Given the description of an element on the screen output the (x, y) to click on. 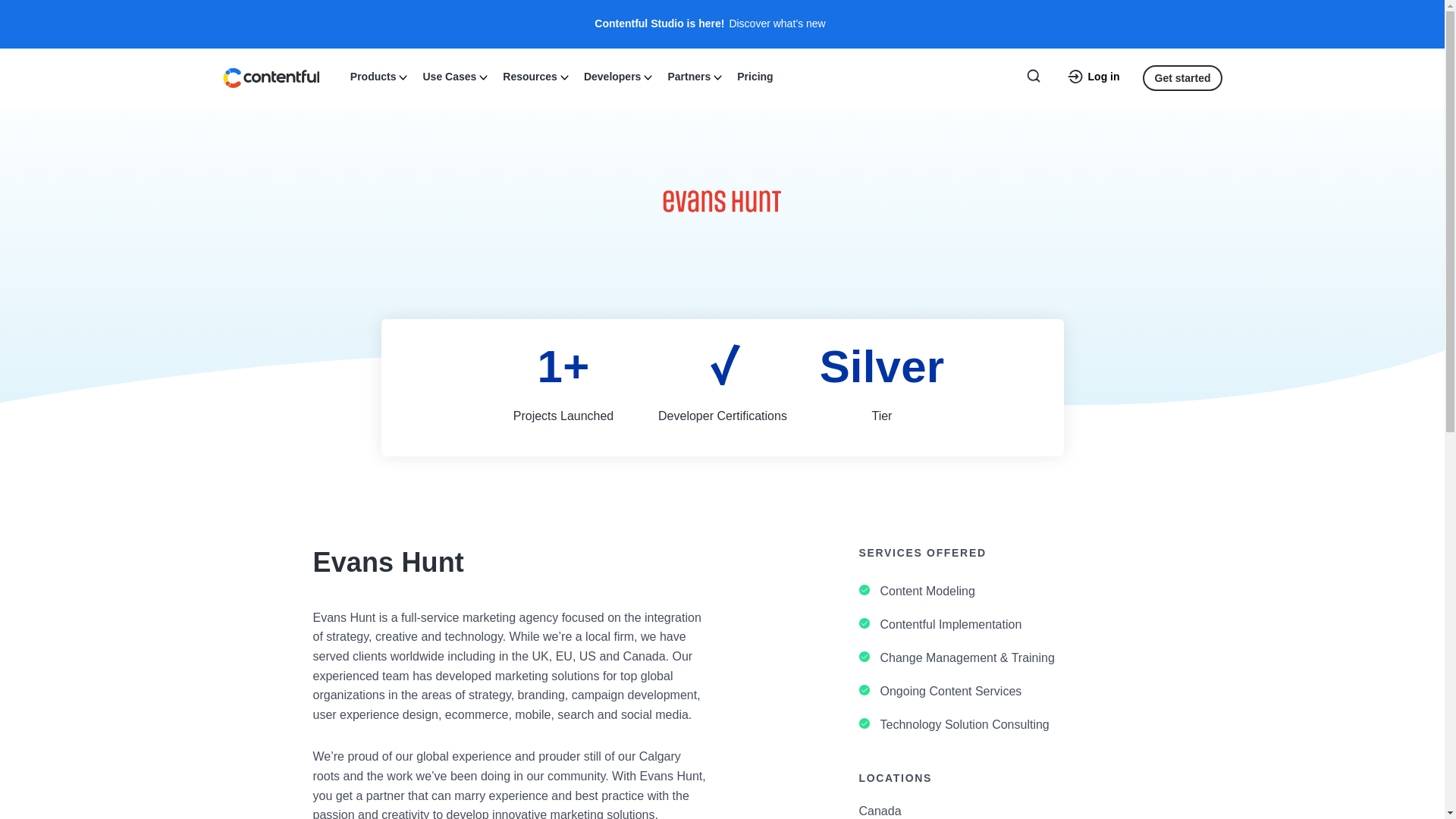
Products (376, 75)
Use Cases (453, 75)
Resources (534, 75)
Developers (616, 75)
Pricing (754, 75)
Log in (1094, 77)
Partners (693, 75)
